Given the description of an element on the screen output the (x, y) to click on. 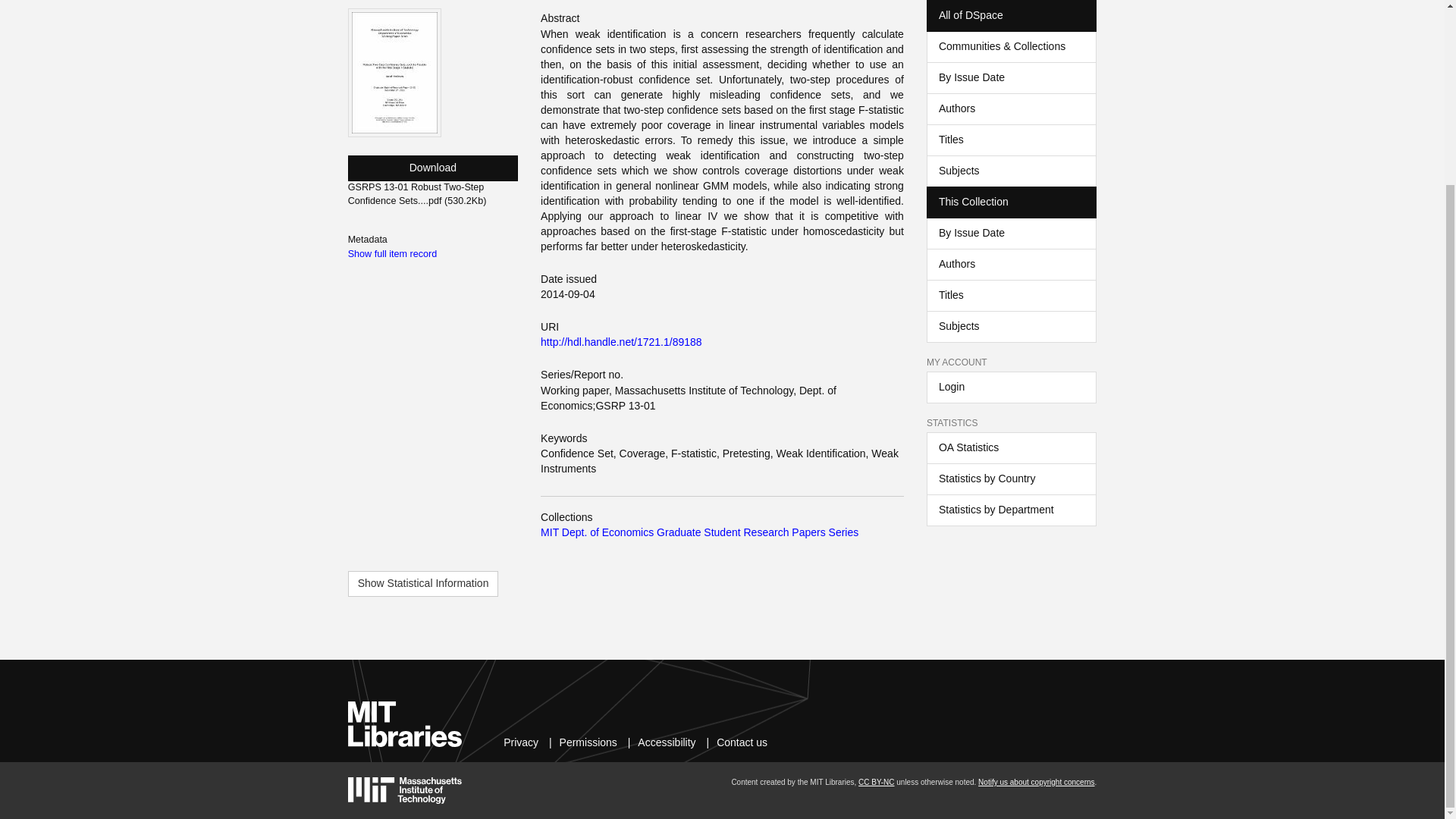
Statistics by Department (1011, 510)
OA Statistics (1011, 448)
Download (432, 167)
Login (1011, 387)
Subjects (1011, 171)
Statistics by Country (1011, 479)
Permissions (588, 742)
Show full item record (392, 253)
Titles (1011, 296)
Titles (1011, 140)
